Given the description of an element on the screen output the (x, y) to click on. 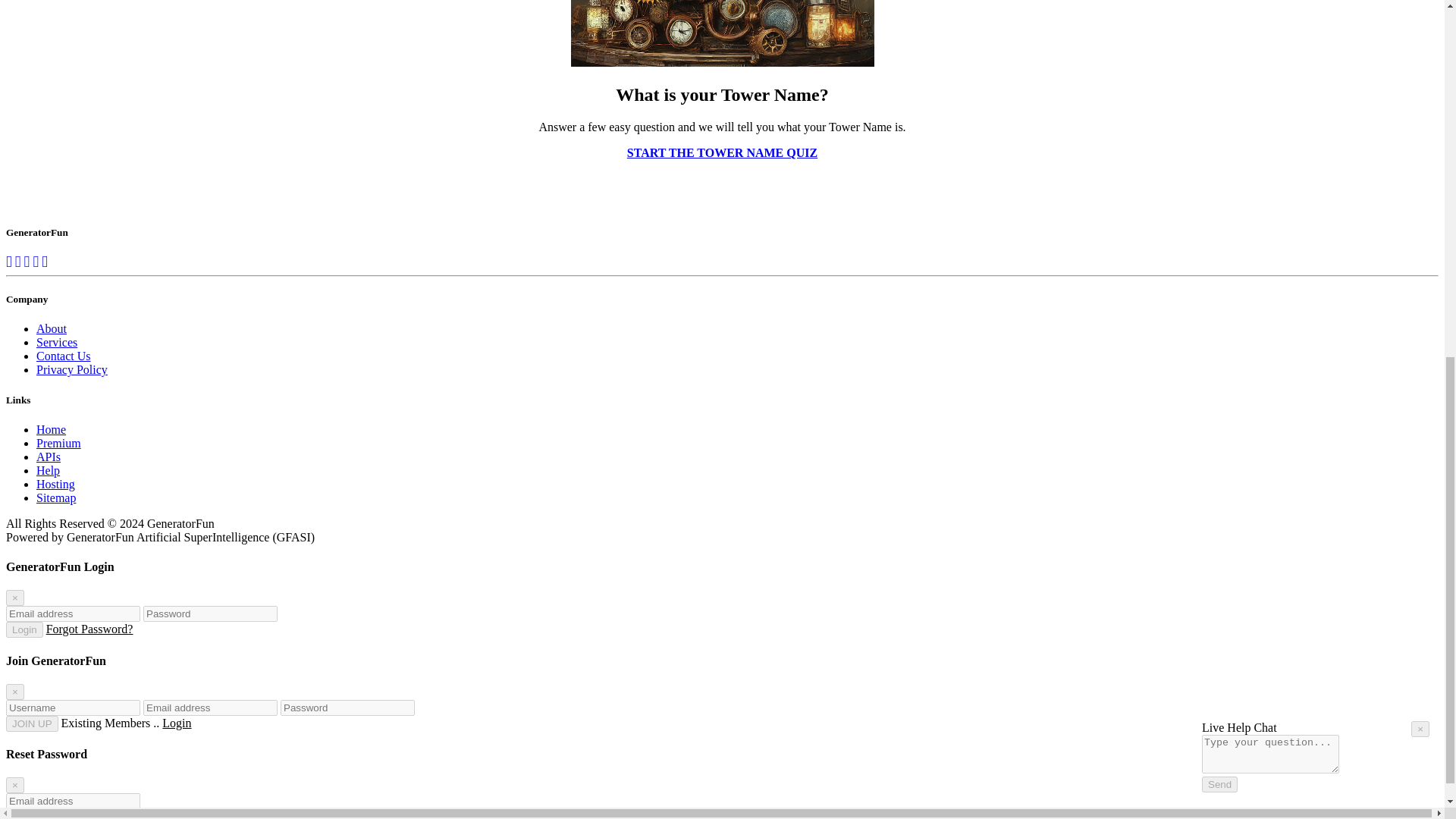
APIs (48, 456)
About (51, 328)
Services (56, 341)
Forgot Password? (89, 628)
Help (47, 470)
Privacy Policy (71, 369)
Send (1219, 127)
Login (24, 629)
Sitemap (55, 497)
Hosting (55, 483)
